Given the description of an element on the screen output the (x, y) to click on. 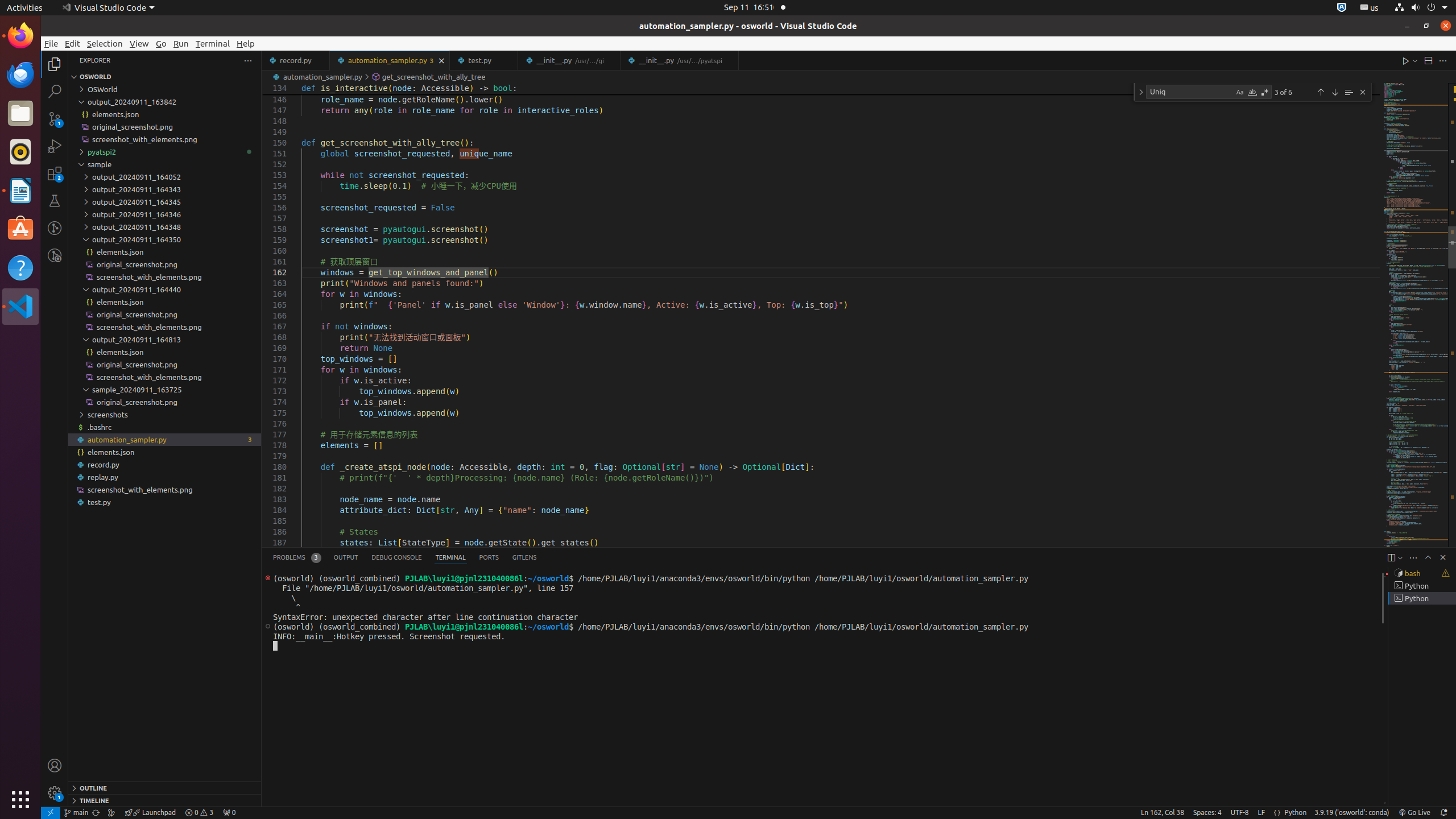
sample Element type: tree-item (164, 164)
replay.py Element type: tree-item (164, 476)
Warnings: 3 Element type: push-button (199, 812)
